Given the description of an element on the screen output the (x, y) to click on. 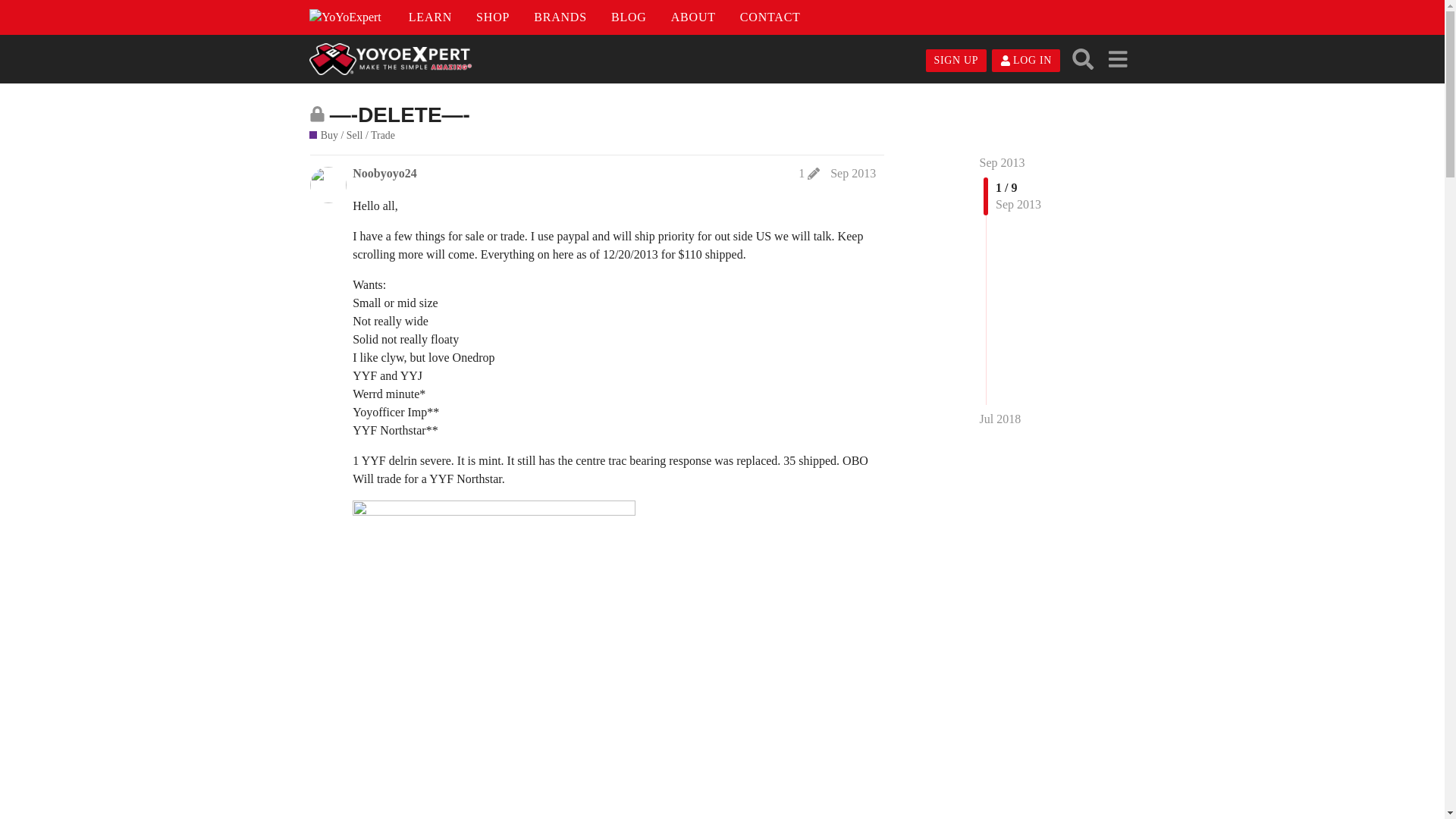
SIGN UP (956, 60)
SHOP (492, 16)
BRANDS (559, 16)
Jump to the first post (1002, 162)
LEARN (429, 16)
1 (808, 173)
BLOG (629, 16)
menu (1117, 58)
This topic is closed; it no longer accepts new replies (316, 114)
Jul 2018 (1000, 419)
